Given the description of an element on the screen output the (x, y) to click on. 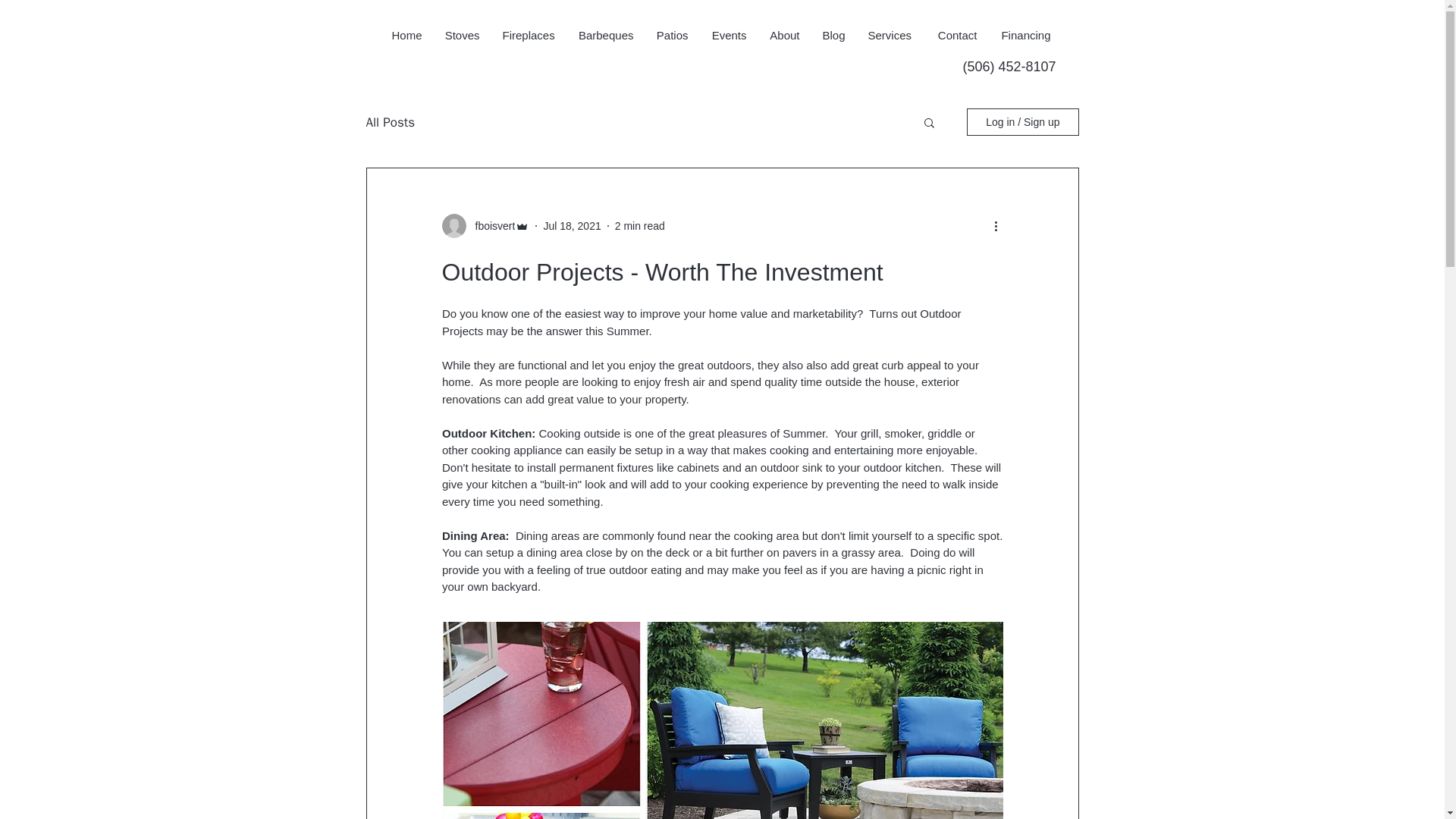
About (784, 35)
2 min read (639, 225)
Fireplaces (529, 35)
fboisvert (485, 225)
Home (406, 35)
Financing (1025, 35)
Contact (954, 35)
Barbeques (605, 35)
Jul 18, 2021 (571, 225)
All Posts (389, 122)
Events (727, 35)
fboisvert (490, 226)
Services (890, 35)
Stoves (462, 35)
Patios (671, 35)
